Given the description of an element on the screen output the (x, y) to click on. 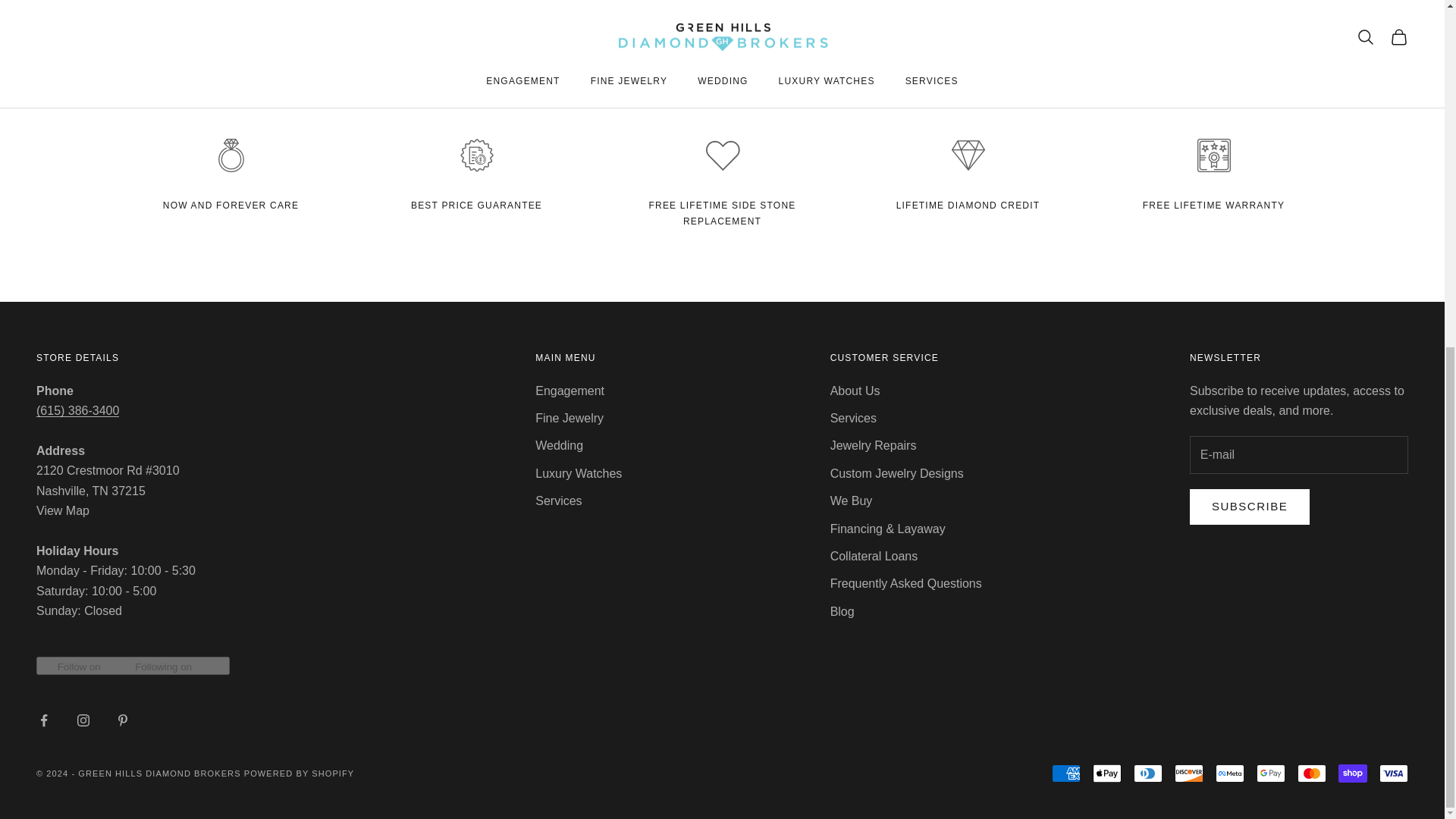
Benefits (475, 204)
Benefits (230, 204)
Benefits (968, 204)
Benefits (1213, 204)
Benefits (722, 212)
